Given the description of an element on the screen output the (x, y) to click on. 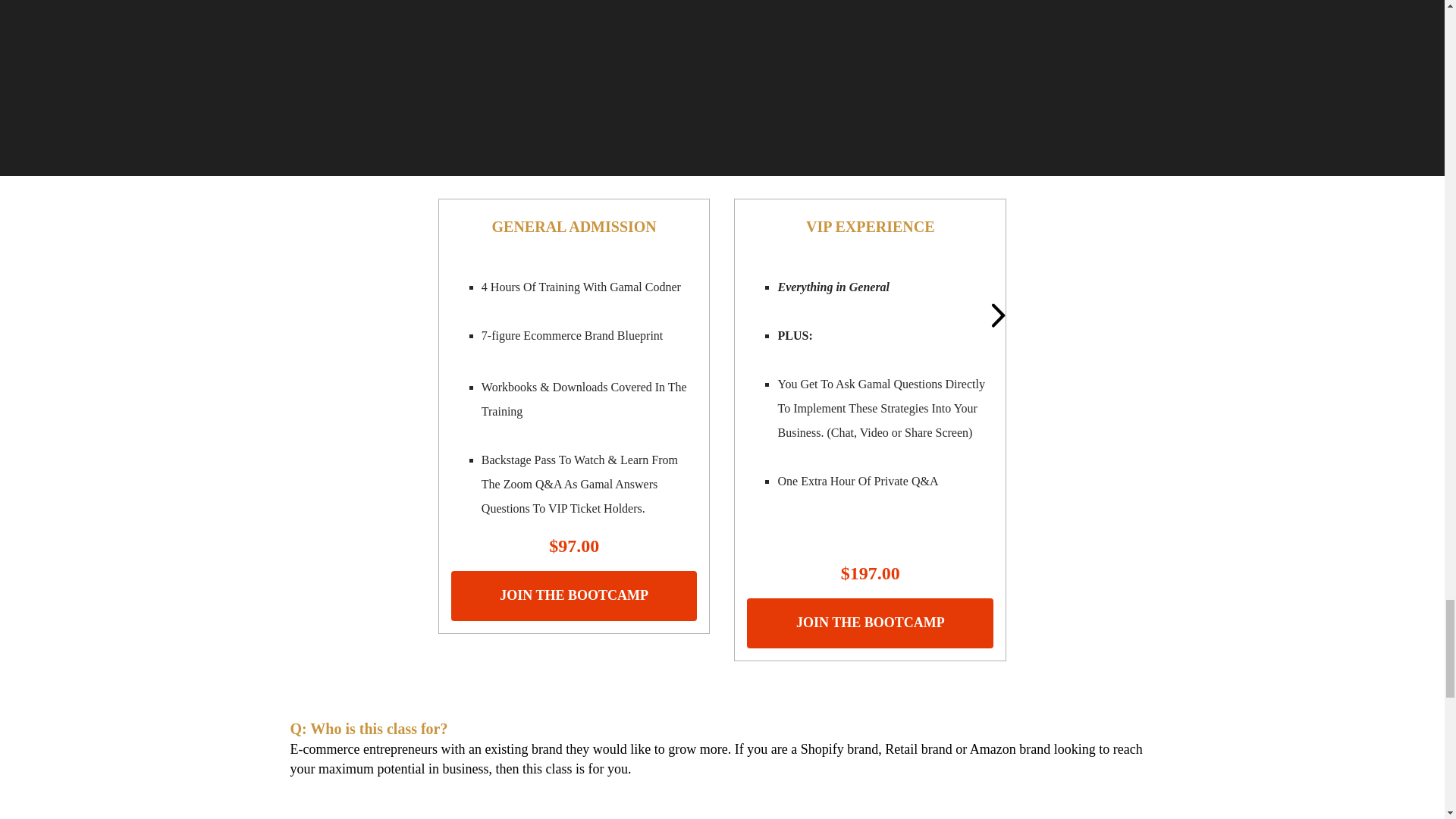
JOIN THE BOOTCAMP (869, 623)
JOIN THE BOOTCAMP (574, 595)
Client About Us Video (722, 76)
